Given the description of an element on the screen output the (x, y) to click on. 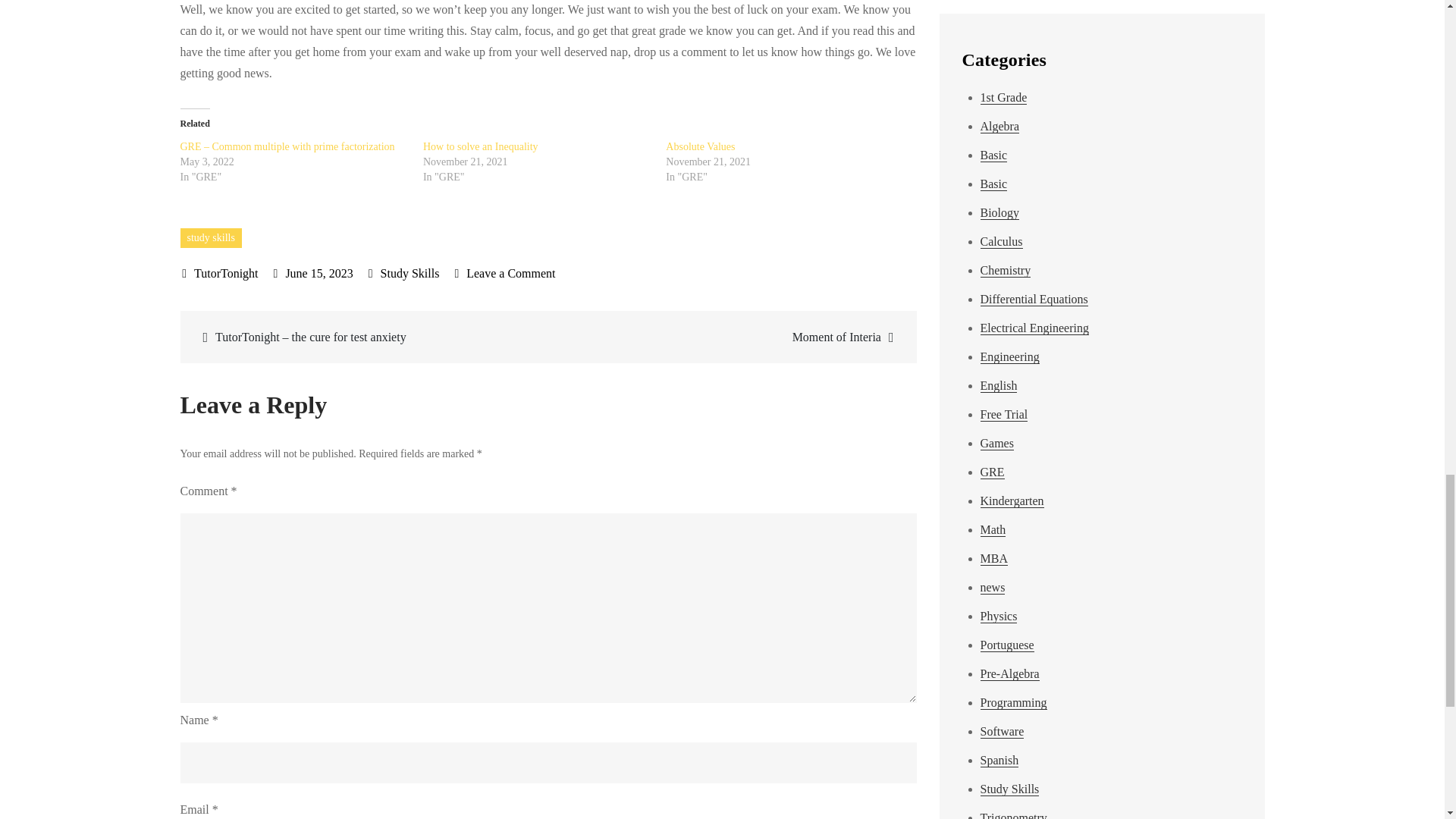
TutorTonight (219, 273)
Moment of Interia (730, 336)
Absolute Values (700, 146)
Study Skills (504, 273)
How to solve an Inequality (409, 273)
June 15, 2023 (480, 146)
Absolute Values (313, 273)
How to solve an Inequality (700, 146)
study skills (480, 146)
